Given the description of an element on the screen output the (x, y) to click on. 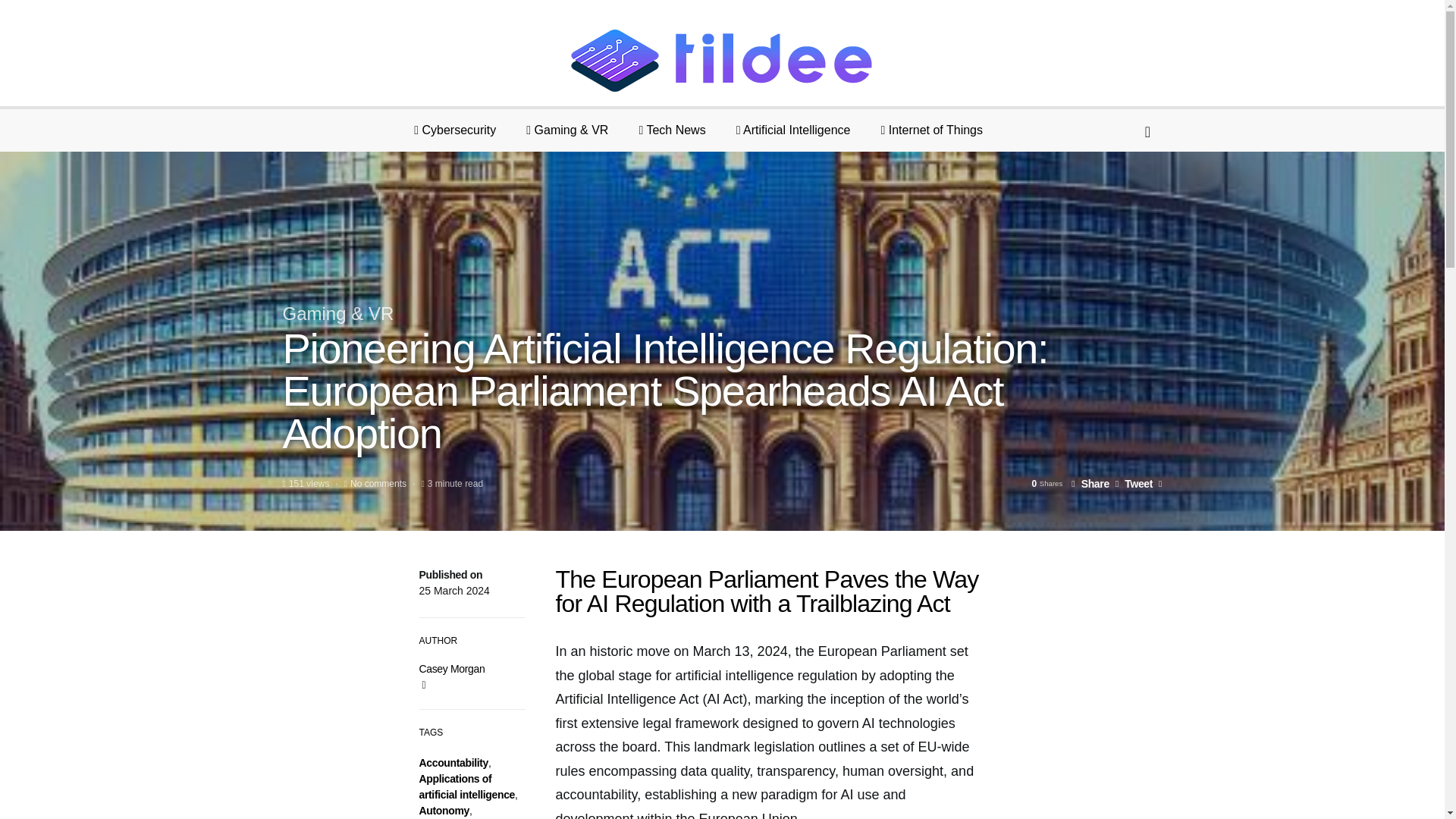
Tweet (1134, 483)
Autonomy (443, 810)
Accountability (453, 762)
Share (1090, 483)
Casey Morgan (451, 668)
No comments (378, 483)
Applications of artificial intelligence (467, 786)
